Given the description of an element on the screen output the (x, y) to click on. 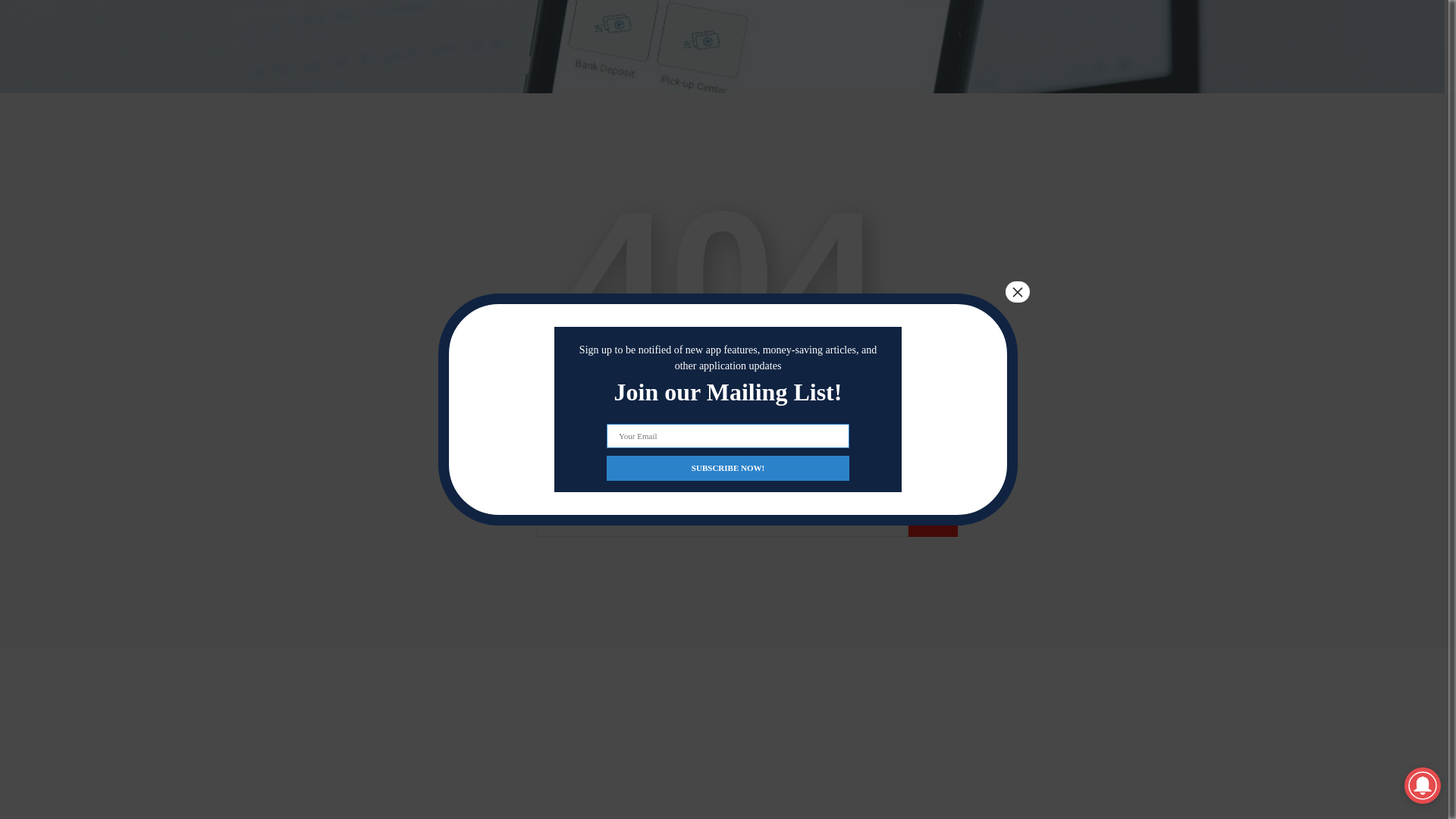
SUBSCRIBE NOW! (727, 285)
SUBSCRIBE NOW! (727, 285)
Search (933, 521)
VISIT HOMEPAGE (722, 422)
Search (933, 521)
Search (933, 521)
